Given the description of an element on the screen output the (x, y) to click on. 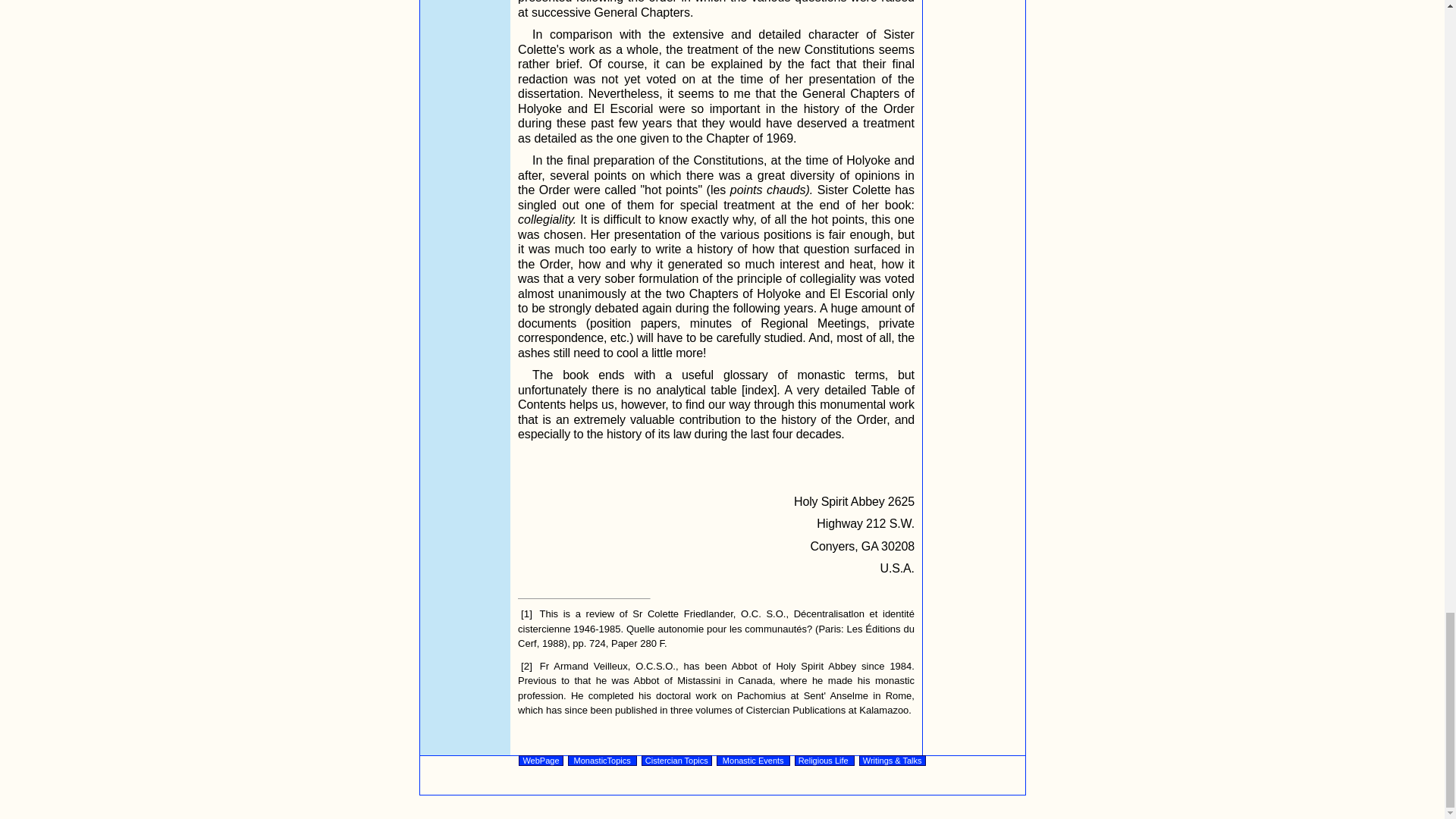
MonasticTopics (602, 760)
WebPage (540, 760)
Religious Life (824, 760)
Cistercian Topics (676, 760)
Monastic Events (753, 760)
